Given the description of an element on the screen output the (x, y) to click on. 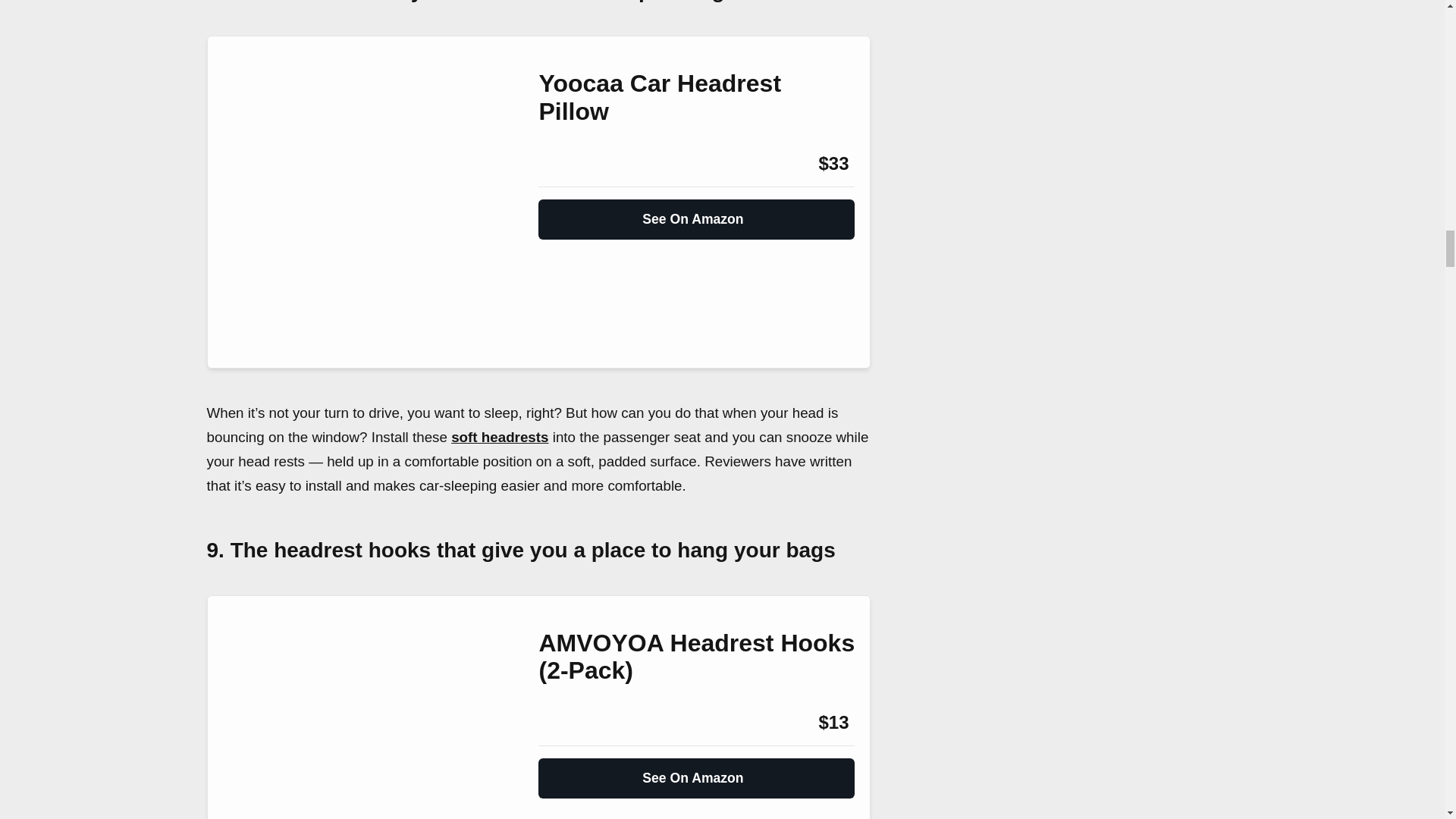
Amazon (579, 163)
Amazon (579, 722)
See On Amazon (696, 212)
soft headrests (499, 437)
